Given the description of an element on the screen output the (x, y) to click on. 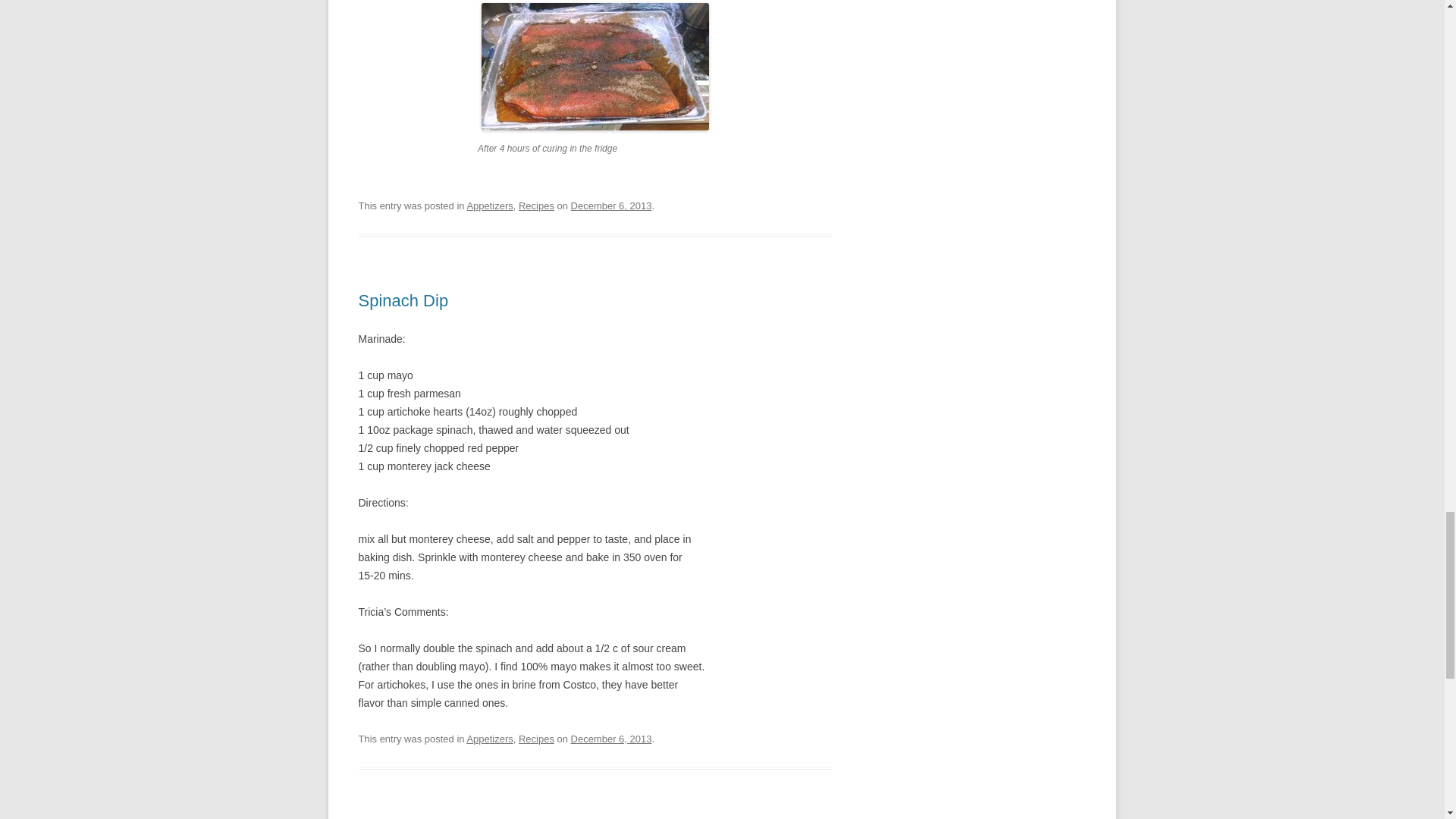
December 6, 2013 (611, 738)
9:52 pm (611, 738)
Recipes (536, 205)
9:53 pm (611, 205)
Appetizers (488, 738)
December 6, 2013 (611, 205)
Spinach Dip (403, 300)
Appetizers (488, 205)
Recipes (536, 738)
